Given the description of an element on the screen output the (x, y) to click on. 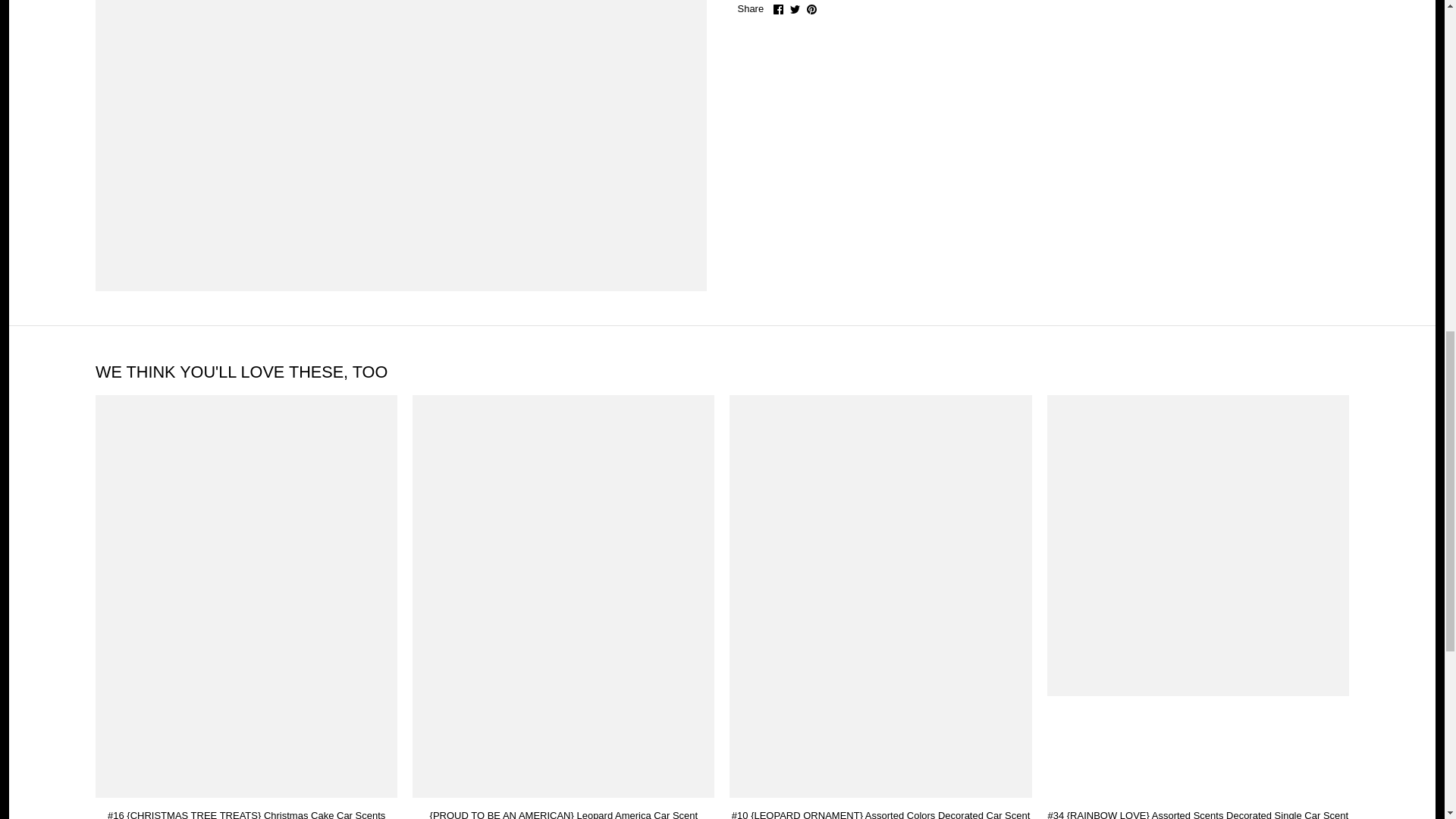
Facebook (778, 9)
Twitter (794, 9)
Pinterest (811, 9)
